Given the description of an element on the screen output the (x, y) to click on. 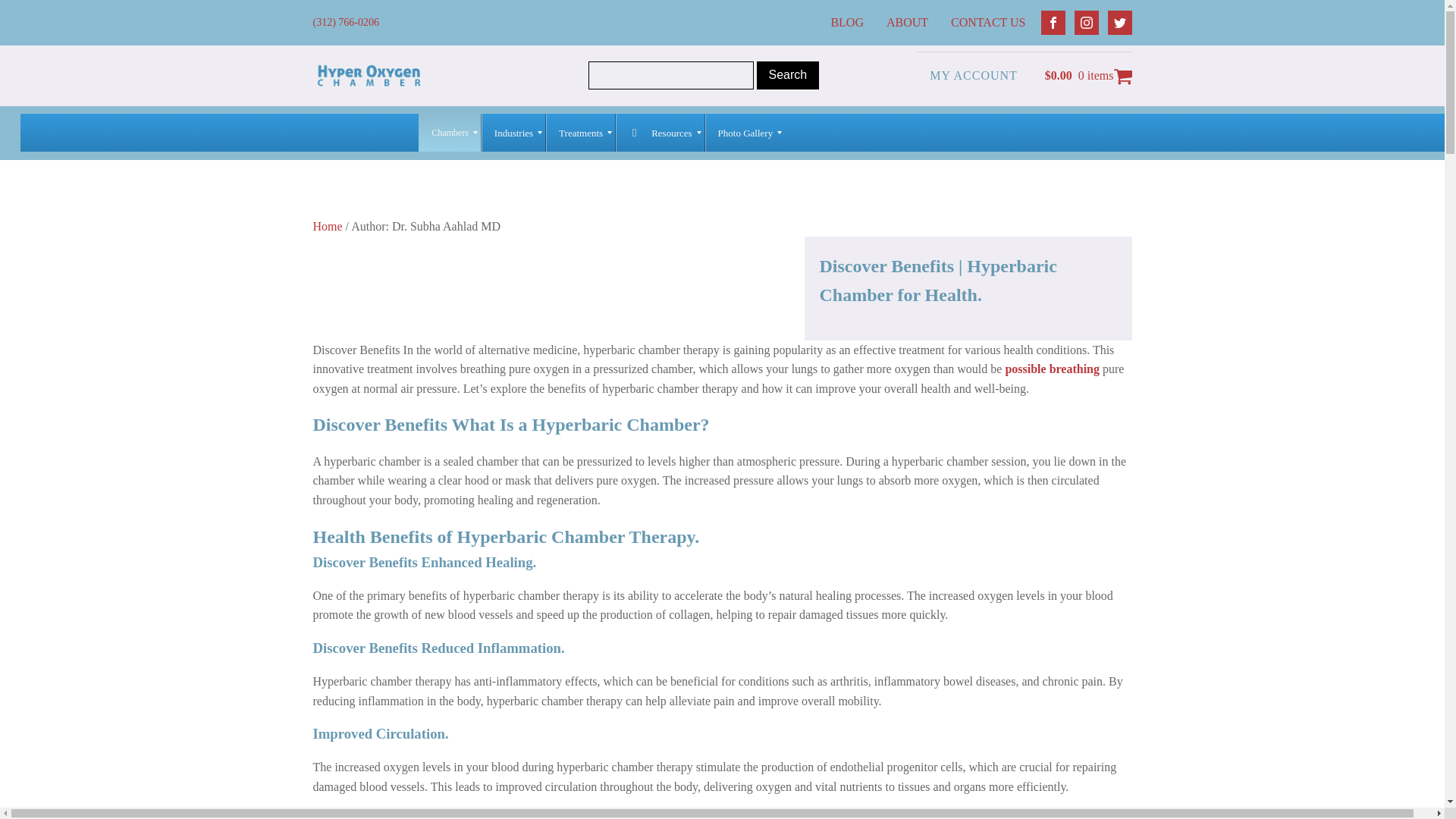
MY ACCOUNT (972, 75)
CONTACT US (992, 22)
Search (788, 74)
INDUSTRIES (137, 124)
BLOG (850, 22)
RESOURCES (313, 124)
TREATMENTS (225, 124)
Search (788, 74)
CHAMBERS (54, 124)
ABOUT (911, 22)
